Given the description of an element on the screen output the (x, y) to click on. 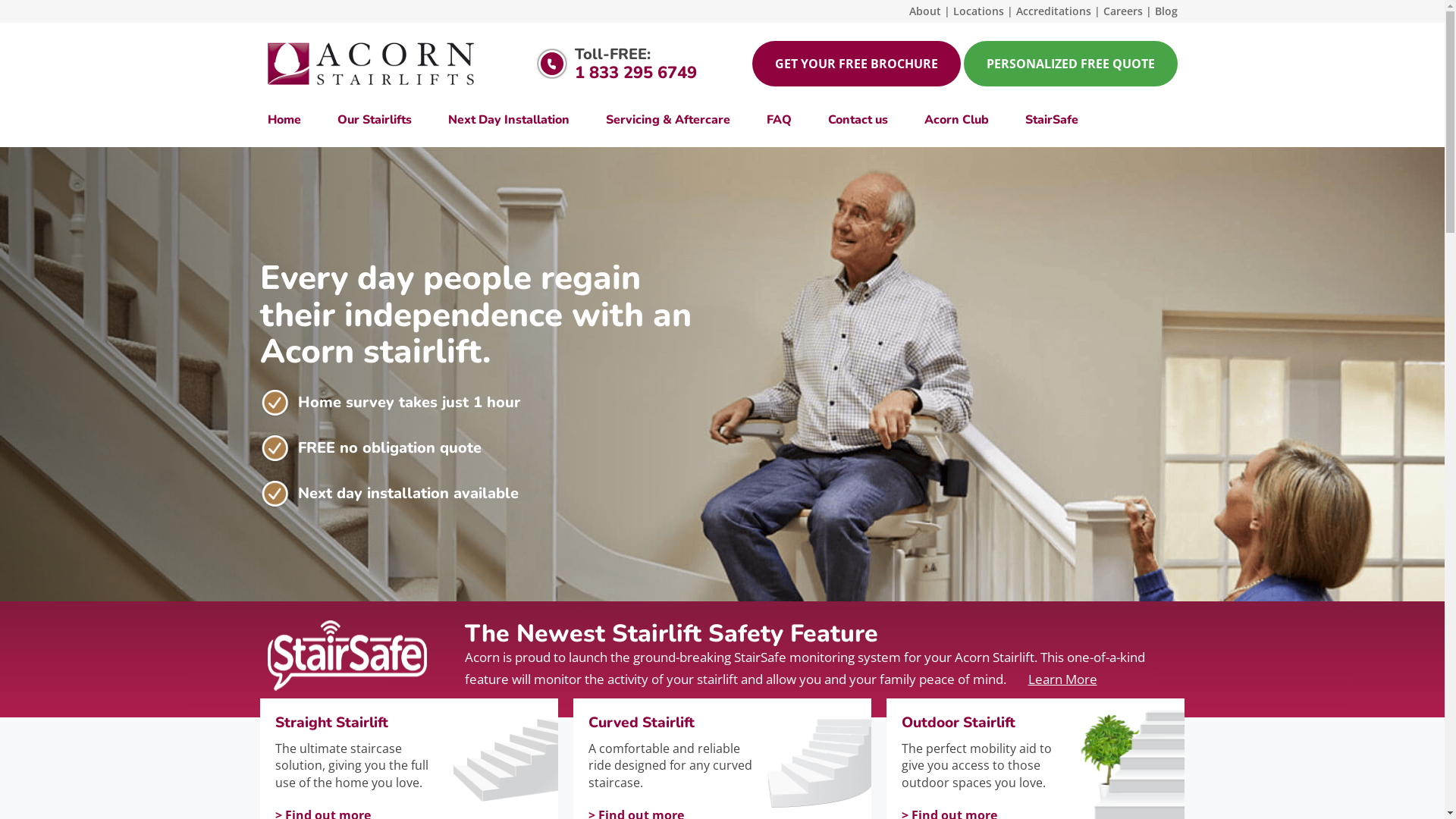
Careers Element type: text (1122, 10)
Next Day Installation Element type: text (507, 119)
Our Stairlifts Element type: text (373, 119)
Straight Stairlift Element type: text (361, 722)
FAQ Element type: text (778, 119)
GET YOUR FREE BROCHURE Element type: text (856, 63)
Acorn Stairlifts Element type: hover (371, 63)
FREE no obligation quote Element type: text (388, 447)
Home survey takes just 1 hour Element type: text (408, 402)
Contact us Element type: text (857, 119)
Outdoor Stairlift Element type: text (988, 722)
Locations Element type: text (977, 10)
1 833 295 6749 Element type: text (635, 72)
Blog Element type: text (1165, 10)
Next day installation available Element type: text (407, 493)
Accreditations Element type: text (1053, 10)
About Element type: text (924, 10)
Acorn Club Element type: text (955, 119)
PERSONALIZED FREE QUOTE Element type: text (1069, 63)
Servicing & Aftercare Element type: text (666, 119)
StairSafe Element type: text (1042, 119)
Curved Stairlift Element type: text (675, 722)
Home Element type: text (292, 119)
